Given the description of an element on the screen output the (x, y) to click on. 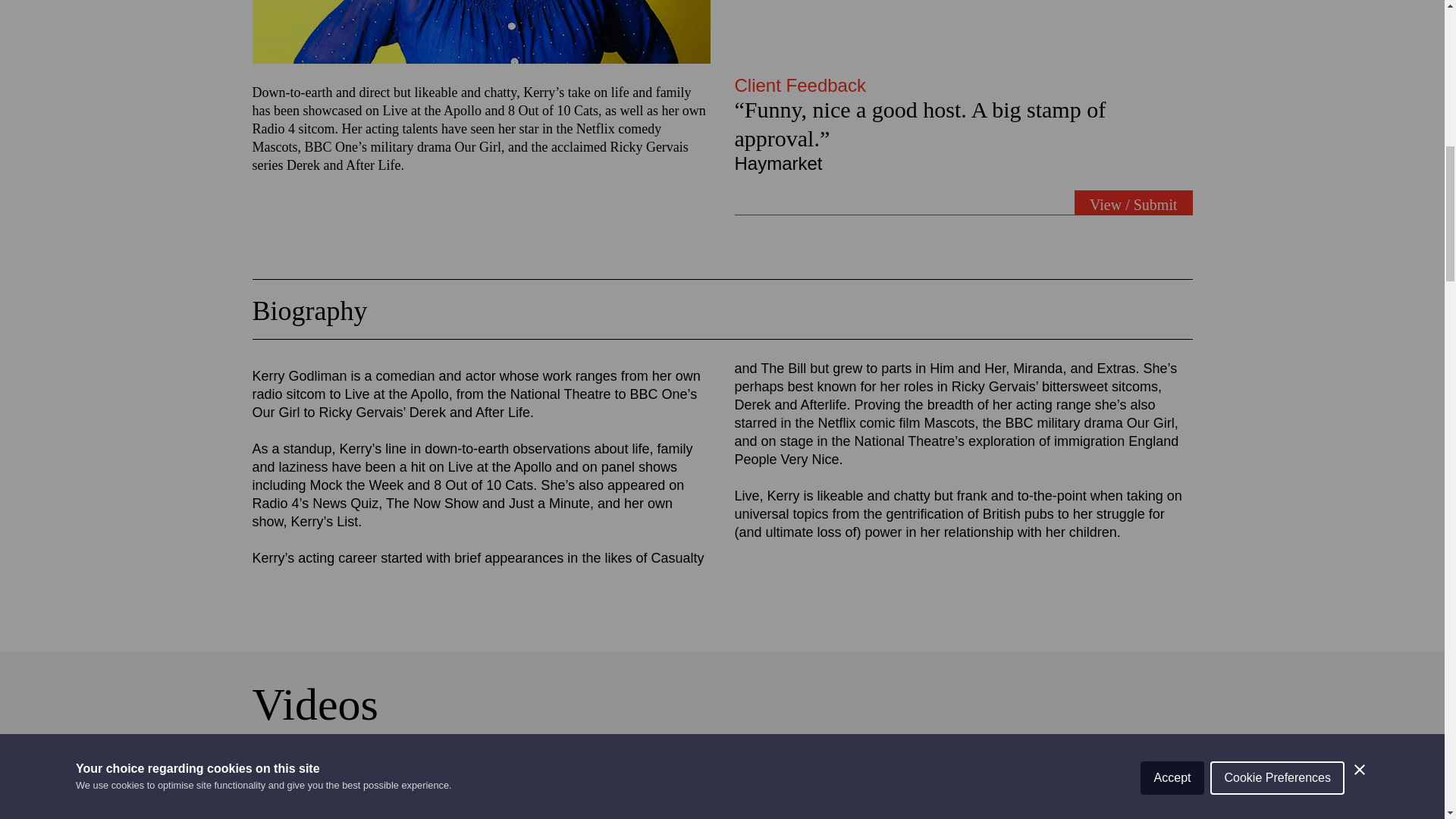
Accept (1172, 12)
Cookie Preferences (1276, 6)
